Given the description of an element on the screen output the (x, y) to click on. 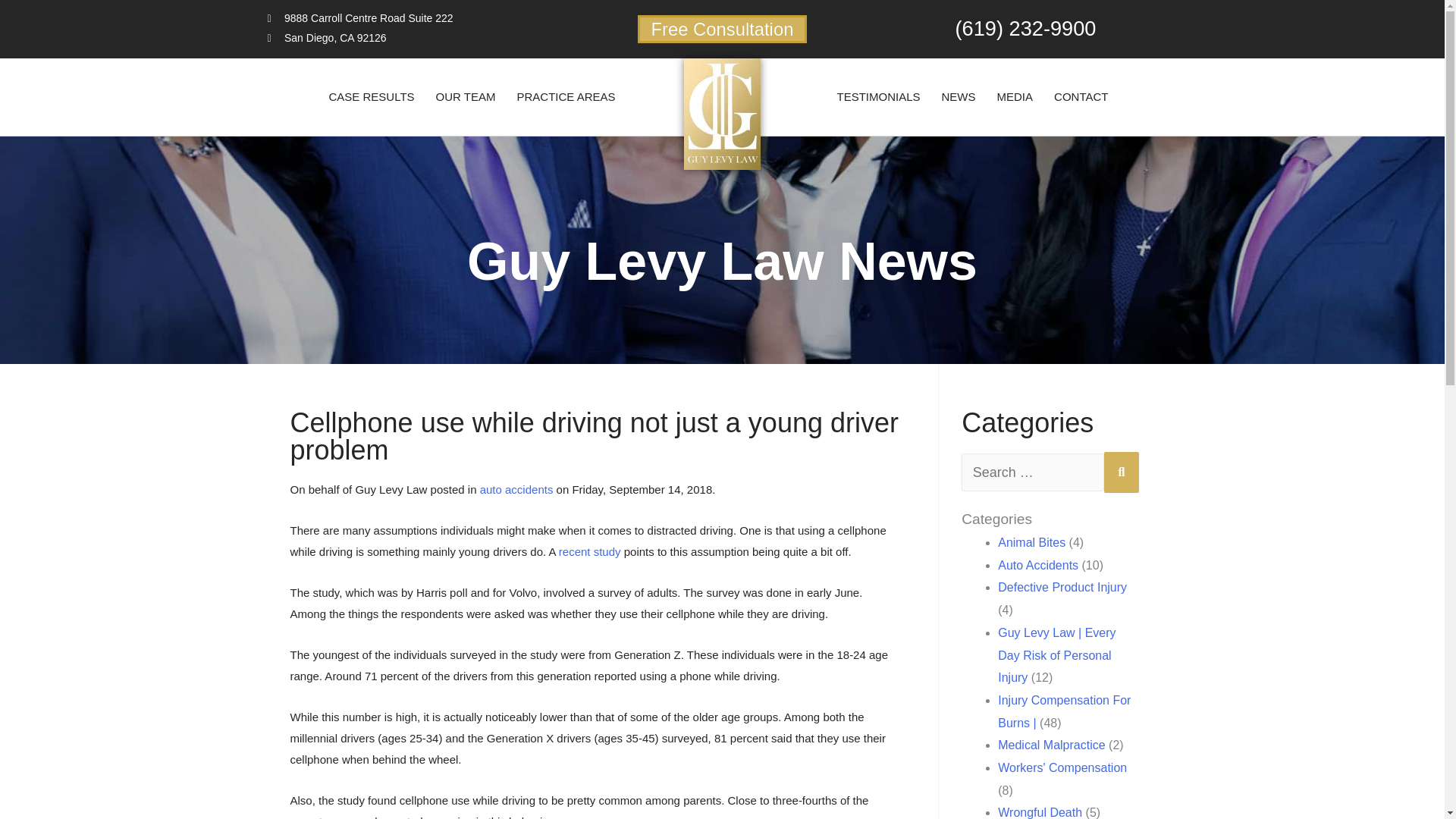
NEWS (959, 96)
TESTIMONIALS (879, 96)
PRACTICE AREAS (565, 96)
OUR TEAM (465, 96)
Free Consultation (722, 29)
MEDIA (1015, 96)
CONTACT (1080, 96)
CASE RESULTS (371, 96)
